Given the description of an element on the screen output the (x, y) to click on. 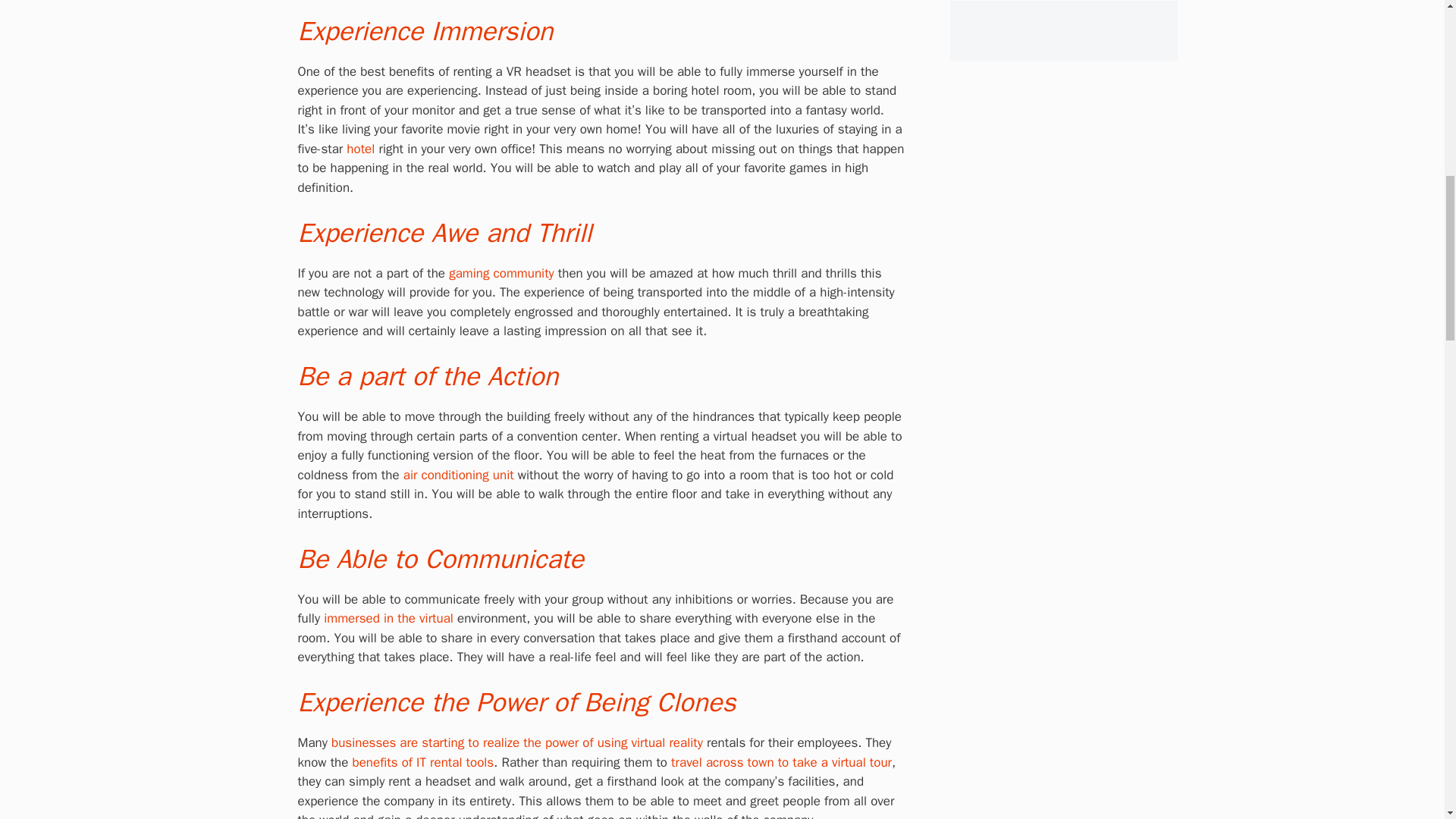
benefits of IT rental tools (422, 762)
travel across town to take a virtual tour (781, 762)
gaming community (501, 273)
immersed in the virtual (387, 618)
hotel (360, 148)
air conditioning unit (458, 474)
